Given the description of an element on the screen output the (x, y) to click on. 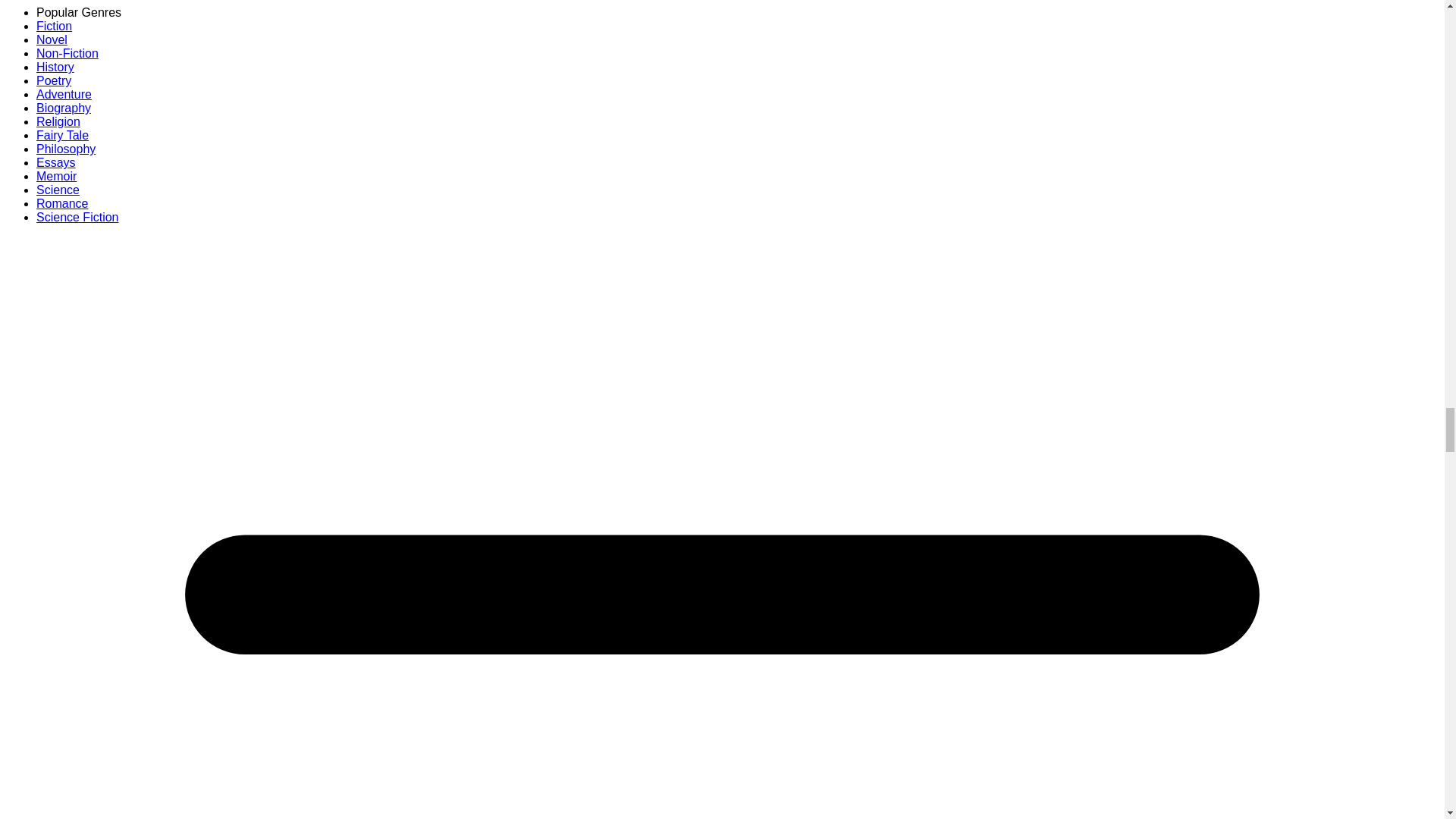
Fairy Tale (62, 134)
History (55, 66)
Fiction (53, 25)
Biography (63, 107)
Novel (51, 39)
Philosophy (66, 148)
Non-Fiction (67, 52)
Religion (58, 121)
Science Fiction (77, 216)
Memoir (56, 175)
